Given the description of an element on the screen output the (x, y) to click on. 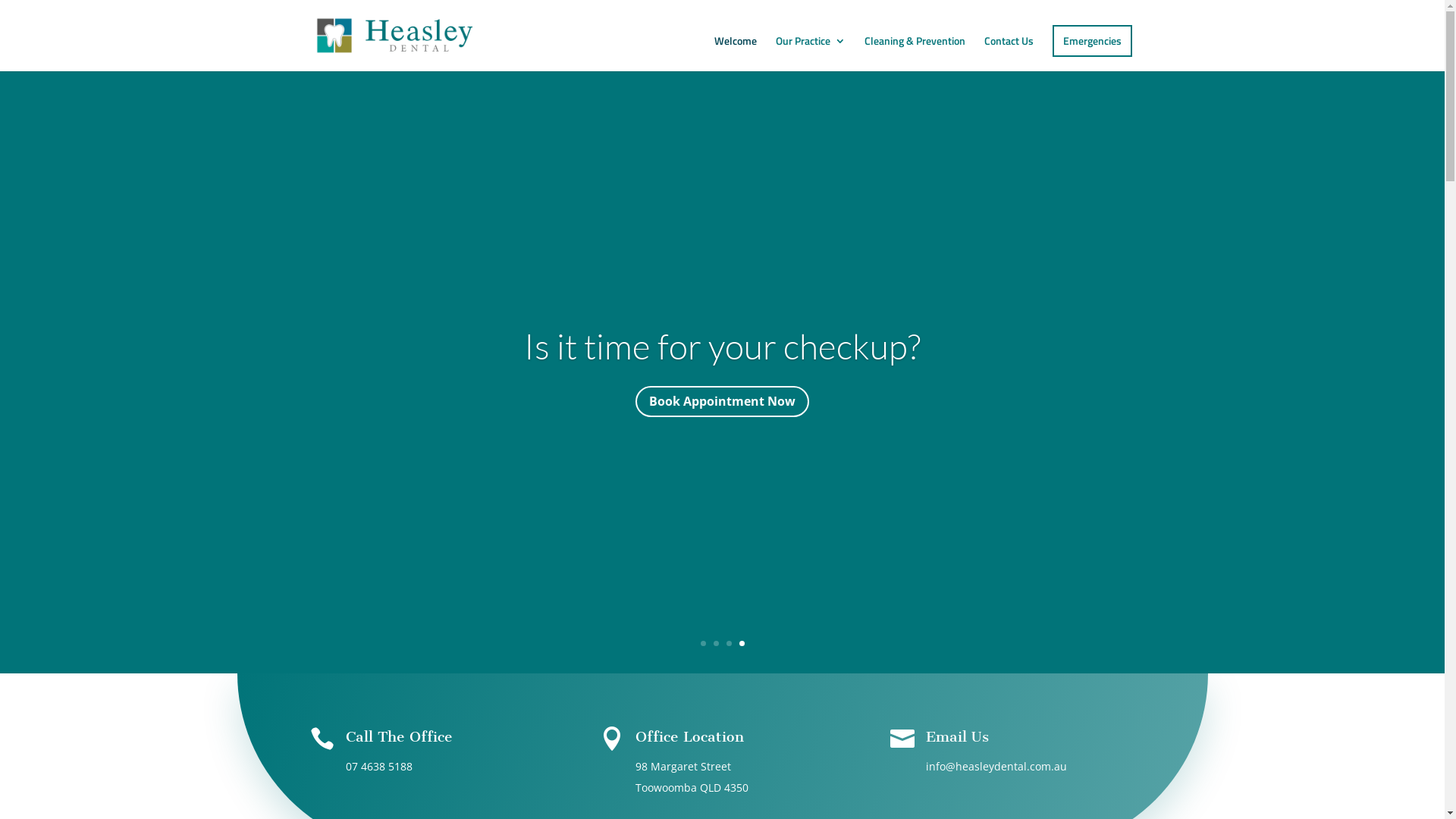
Emergencies Element type: text (1092, 40)
4 Element type: text (740, 643)
2 Element type: text (715, 643)
Contact Us Element type: text (1008, 53)
Cleaning & Prevention Element type: text (914, 53)
3 Element type: text (728, 643)
1 Element type: text (703, 643)
Is it time for your checkup? Element type: text (722, 393)
Our Practice Element type: text (809, 53)
Book Appointment Now Element type: text (722, 447)
Welcome Element type: text (735, 53)
